Given the description of an element on the screen output the (x, y) to click on. 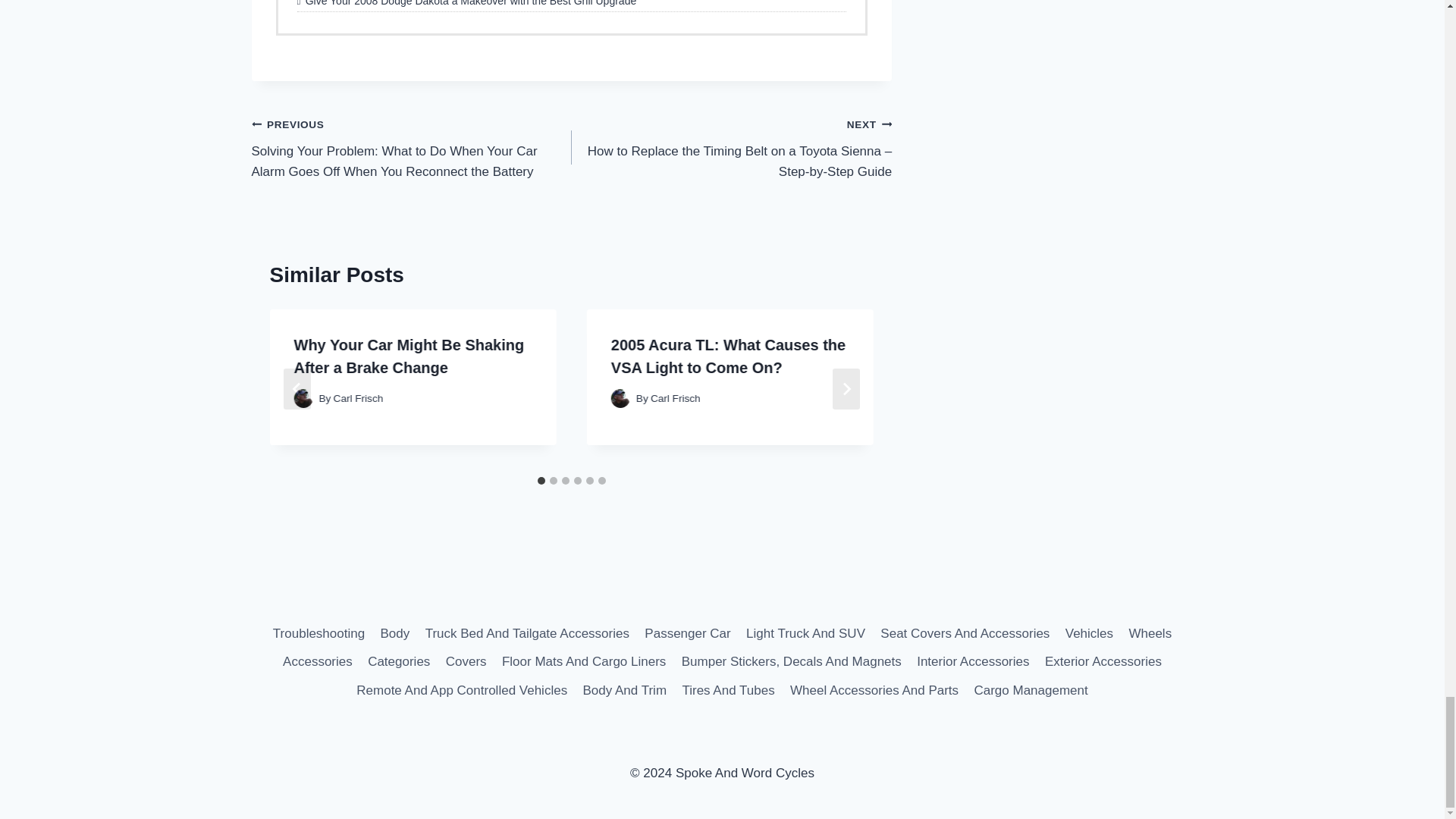
2005 Acura TL: What Causes the VSA Light to Come On? (728, 355)
Why Your Car Might Be Shaking After a Brake Change (409, 355)
